Given the description of an element on the screen output the (x, y) to click on. 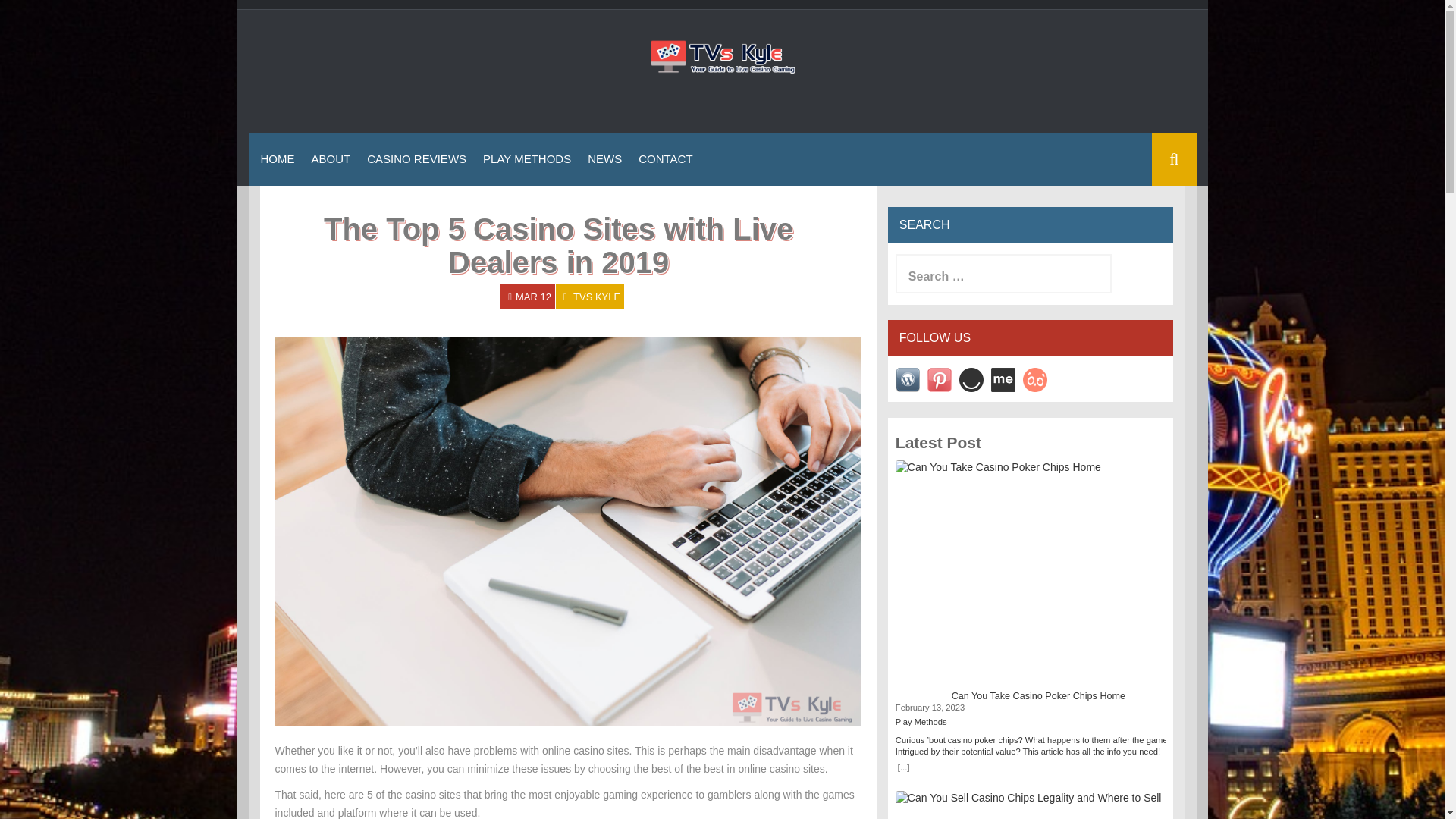
MAR 12 (533, 296)
TVS KYLE (596, 296)
HOME (276, 158)
CASINO REVIEWS (416, 158)
cropped-logo1.png (721, 56)
Follow Us on Ask.fm (1034, 379)
ABOUT (330, 158)
Follow Us on Wordpress (907, 379)
Follow Us on About.me (1002, 379)
